Given the description of an element on the screen output the (x, y) to click on. 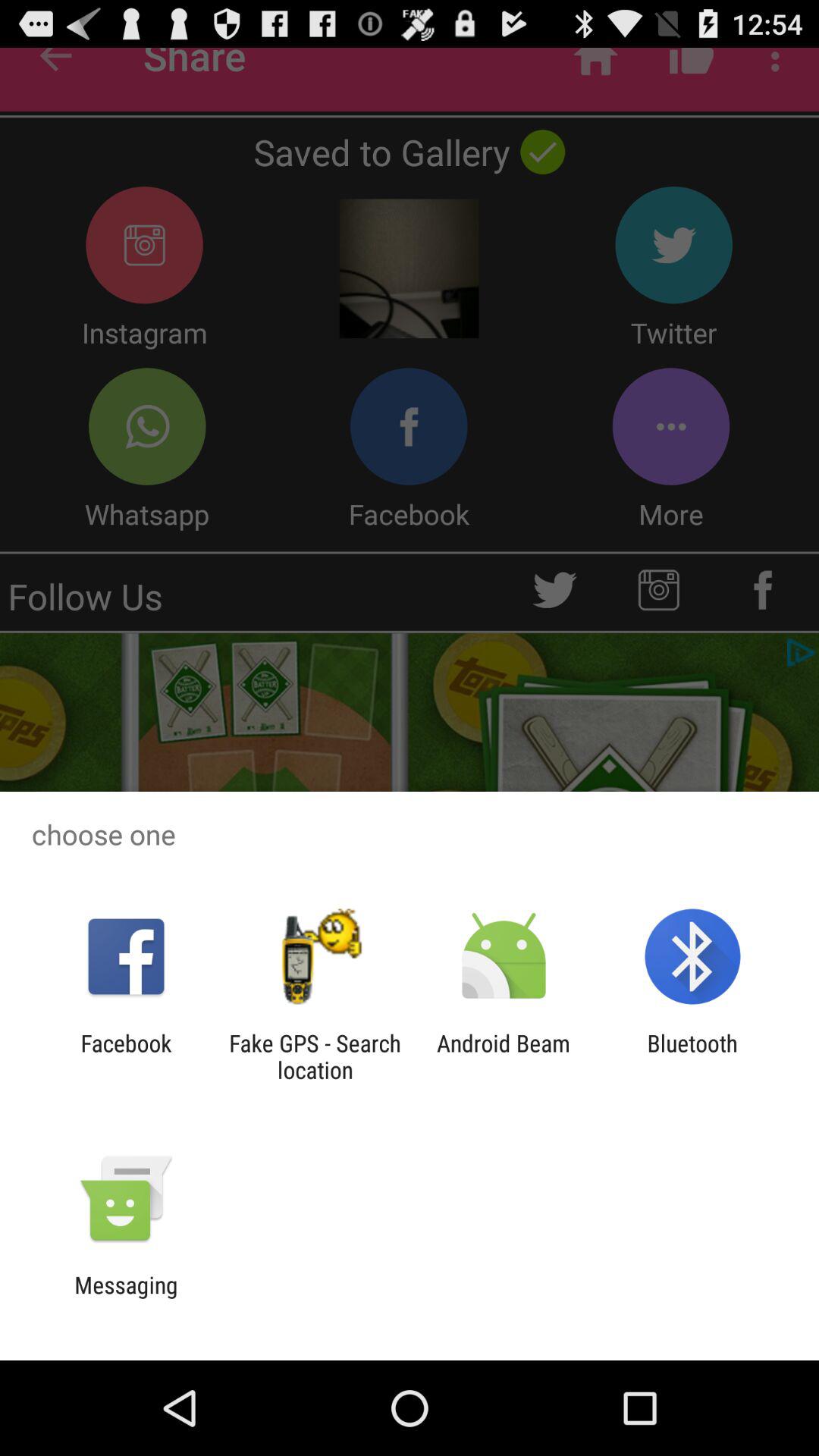
open the messaging app (126, 1298)
